Given the description of an element on the screen output the (x, y) to click on. 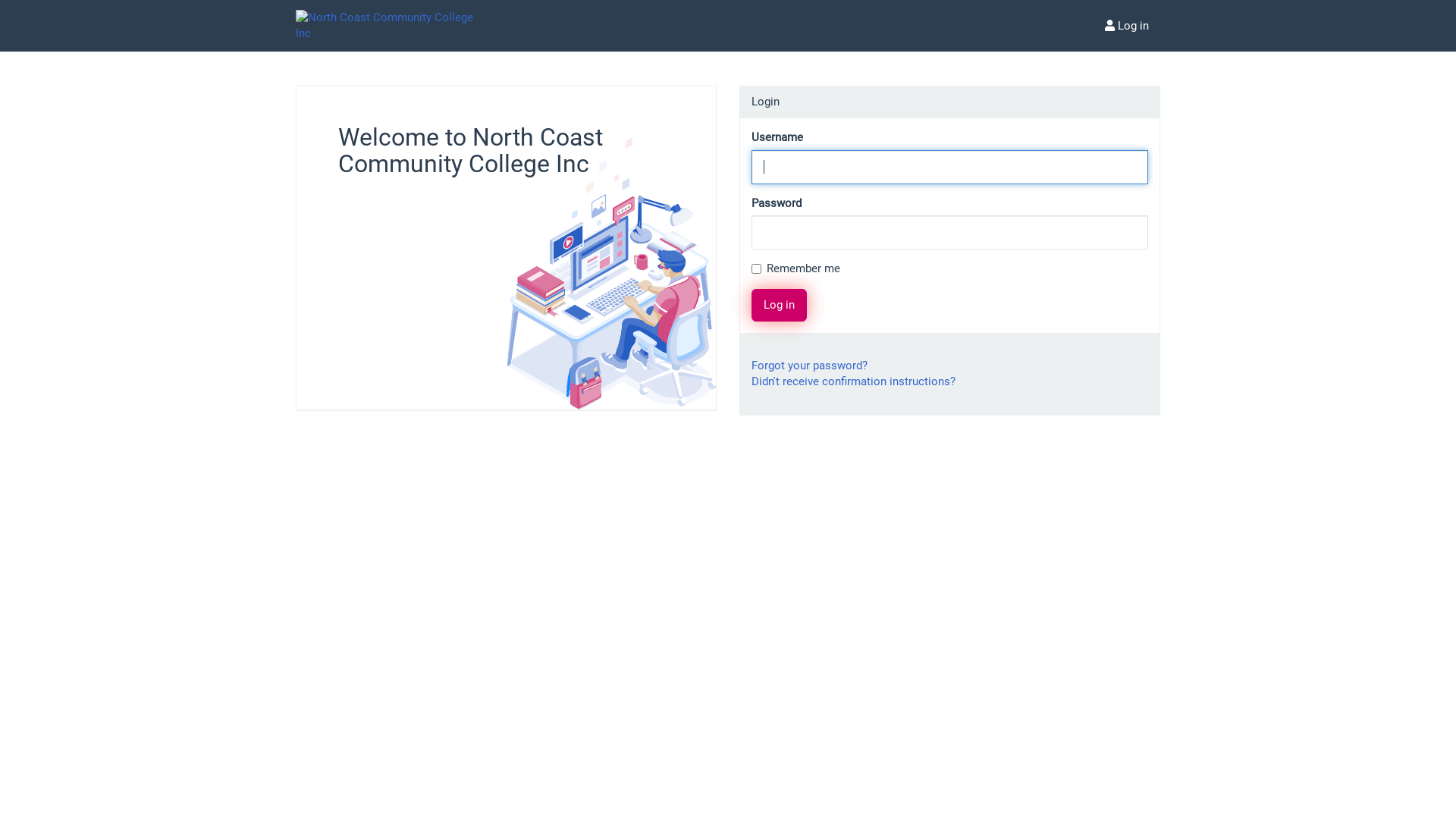
Log in Element type: text (778, 304)
Didn't receive confirmation instructions? Element type: text (853, 381)
Log in Element type: text (1126, 25)
Forgot your password? Element type: text (809, 365)
